Given the description of an element on the screen output the (x, y) to click on. 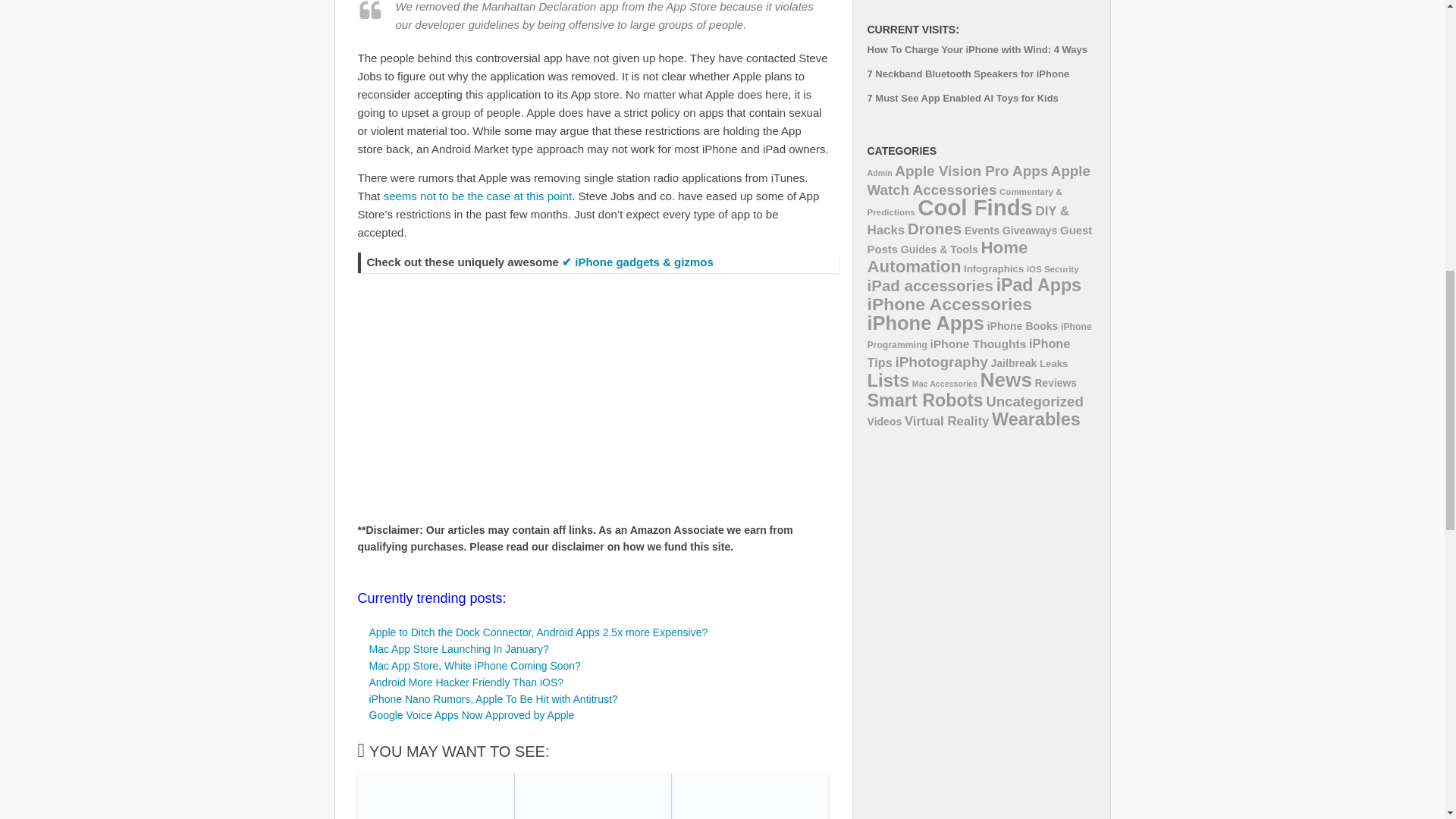
Android More Hacker Friendly Than iOS? (465, 682)
Mac App Store, White iPhone Coming Soon? (473, 665)
iPhone Nano Rumors, Apple To Be Hit with Antitrust? (492, 698)
Google Voice Apps Now Approved by Apple (470, 715)
Mac App Store Launching In January? (458, 648)
